Given the description of an element on the screen output the (x, y) to click on. 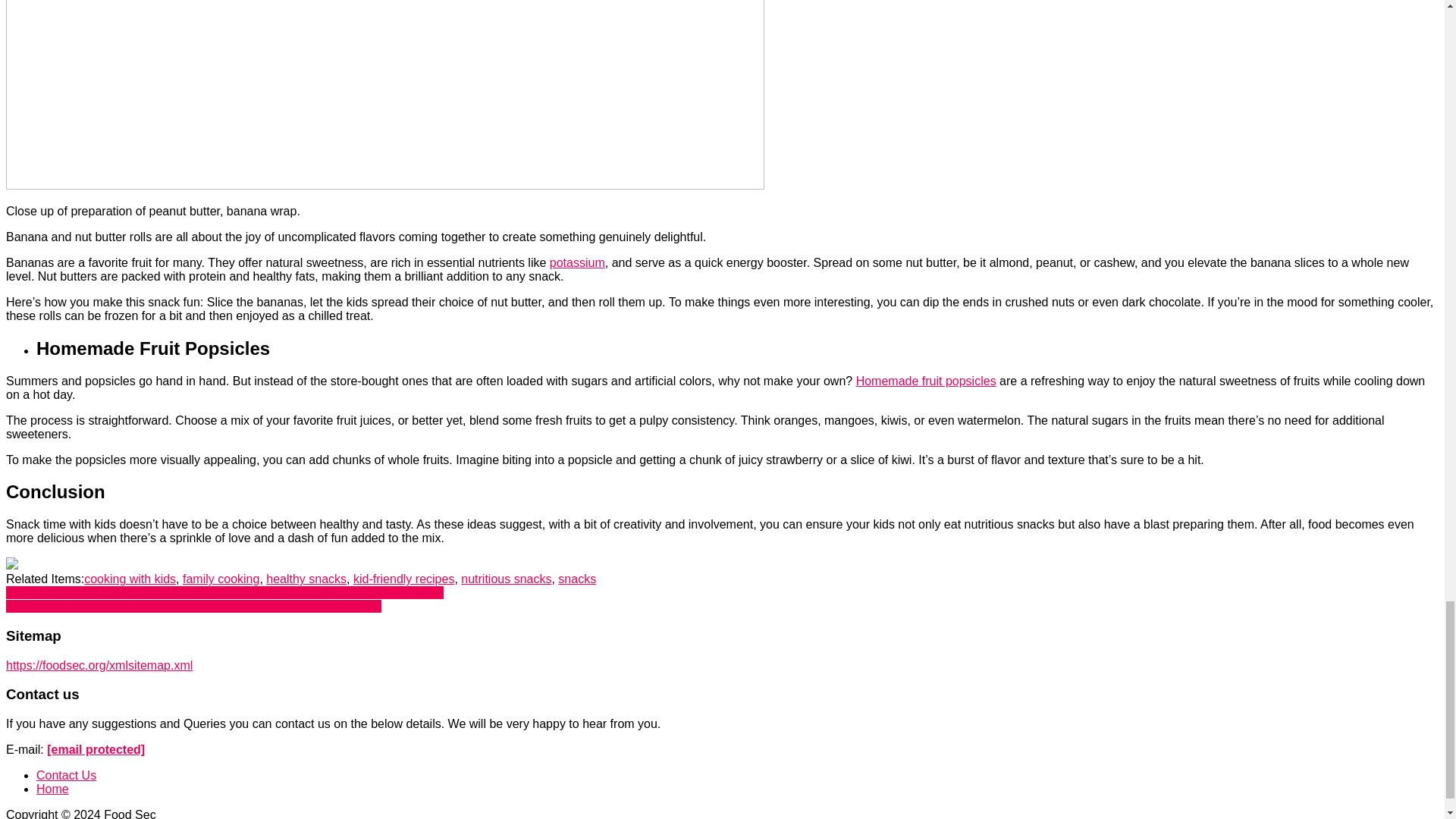
Contact Us (66, 775)
Home (52, 788)
healthy snacks (306, 578)
nutritious snacks (506, 578)
snacks (576, 578)
Homemade fruit popsicles (925, 380)
potassium (577, 262)
cooking with kids (130, 578)
kid-friendly recipes (403, 578)
family cooking (221, 578)
